Given the description of an element on the screen output the (x, y) to click on. 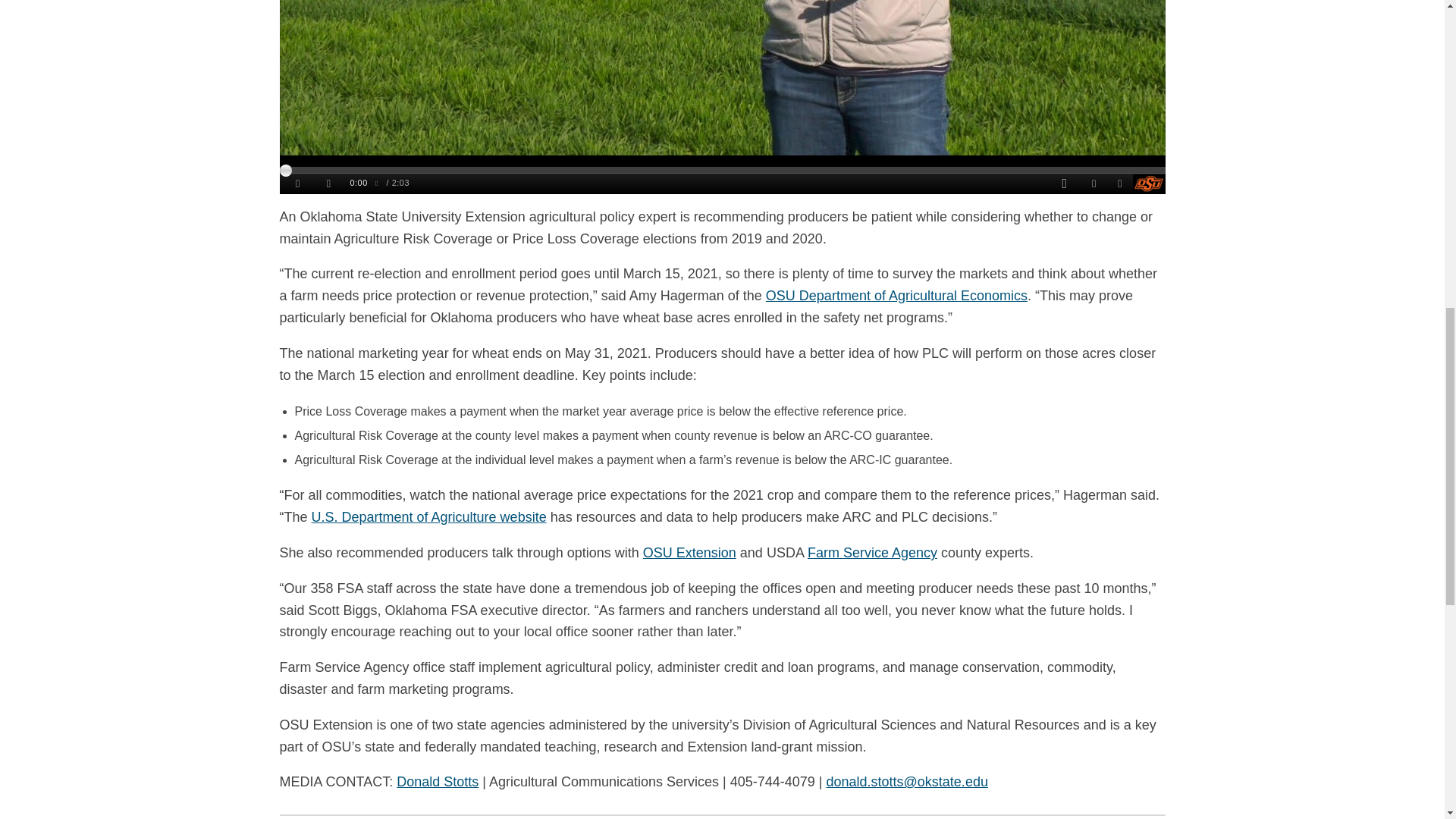
OSU Department of Agricultural Economics (896, 296)
U.S. Department of Agriculture website (429, 517)
OSU Extension (689, 553)
